Given the description of an element on the screen output the (x, y) to click on. 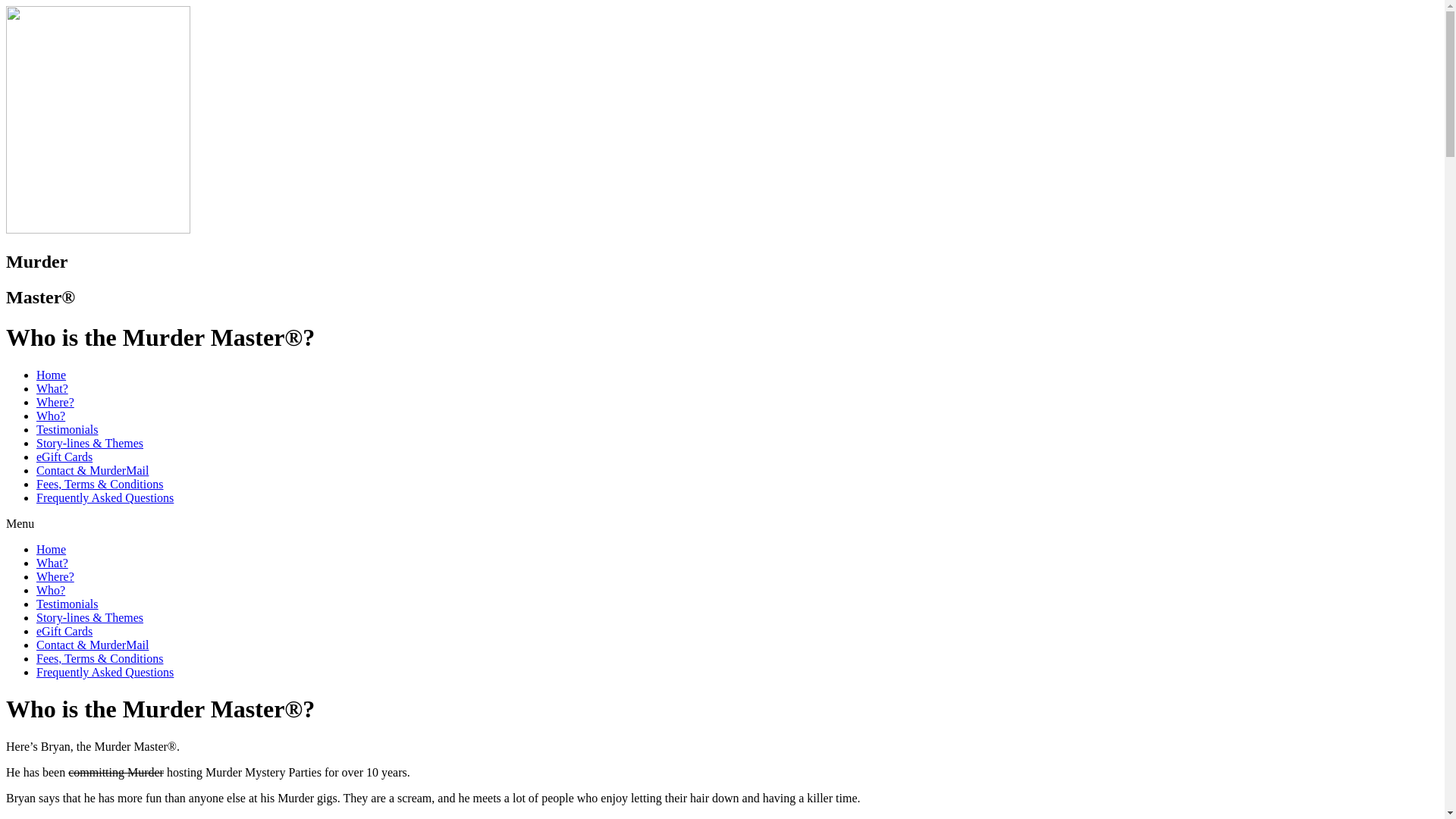
Story-lines & Themes Element type: text (89, 617)
Where? Element type: text (55, 401)
Fees, Terms & Conditions Element type: text (99, 483)
eGift Cards Element type: text (64, 630)
Home Element type: text (50, 374)
Contact & MurderMail Element type: text (92, 644)
Who? Element type: text (50, 415)
Testimonials Element type: text (67, 603)
Fees, Terms & Conditions Element type: text (99, 658)
Story-lines & Themes Element type: text (89, 442)
Frequently Asked Questions Element type: text (104, 497)
eGift Cards Element type: text (64, 456)
Frequently Asked Questions Element type: text (104, 671)
Testimonials Element type: text (67, 429)
Where? Element type: text (55, 576)
Contact & MurderMail Element type: text (92, 470)
Who? Element type: text (50, 589)
What? Element type: text (52, 388)
What? Element type: text (52, 562)
Home Element type: text (50, 548)
